Given the description of an element on the screen output the (x, y) to click on. 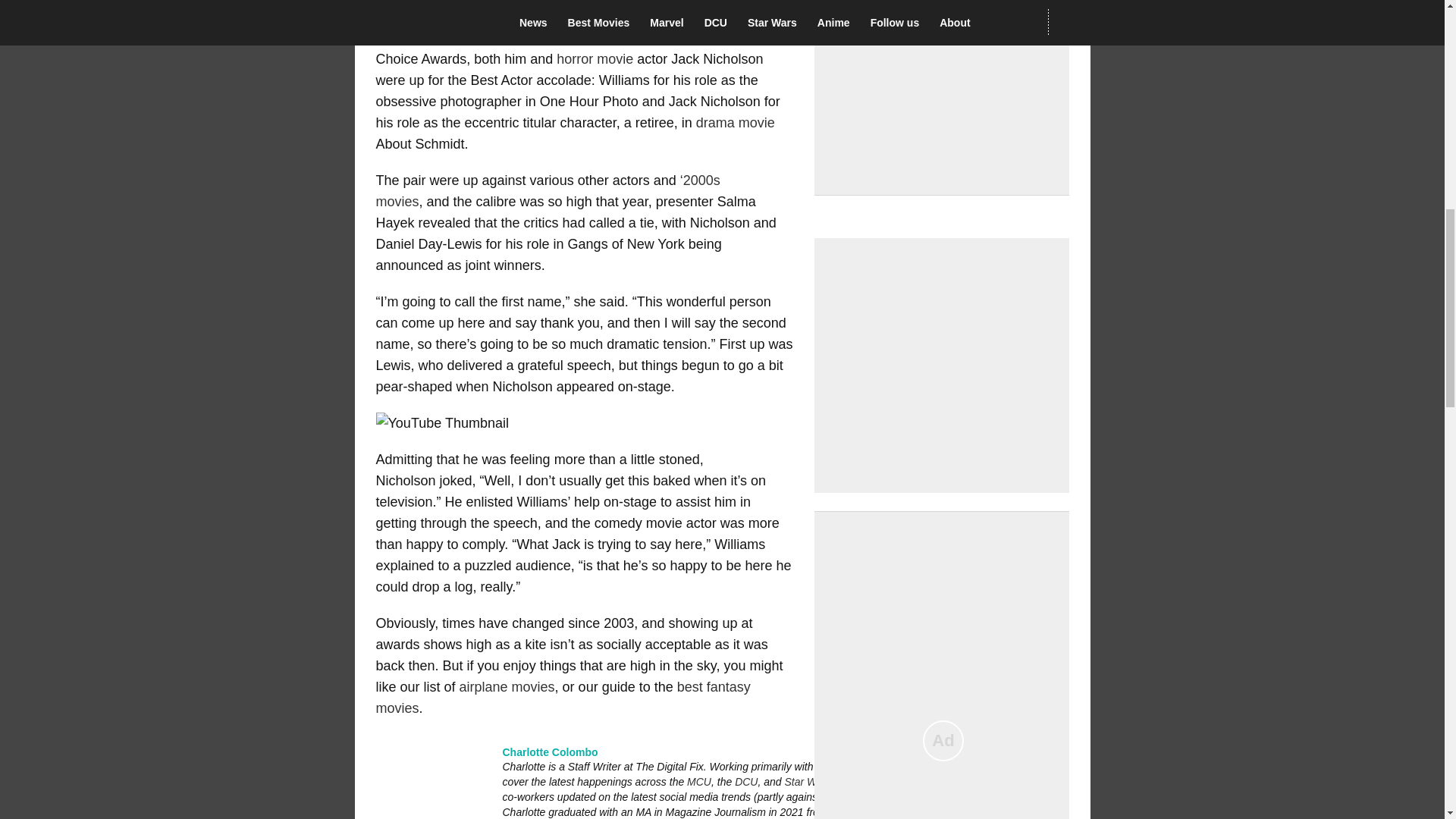
horror movie (594, 58)
airplane movies (507, 686)
drama movie (734, 122)
Disney movie (416, 16)
